Given the description of an element on the screen output the (x, y) to click on. 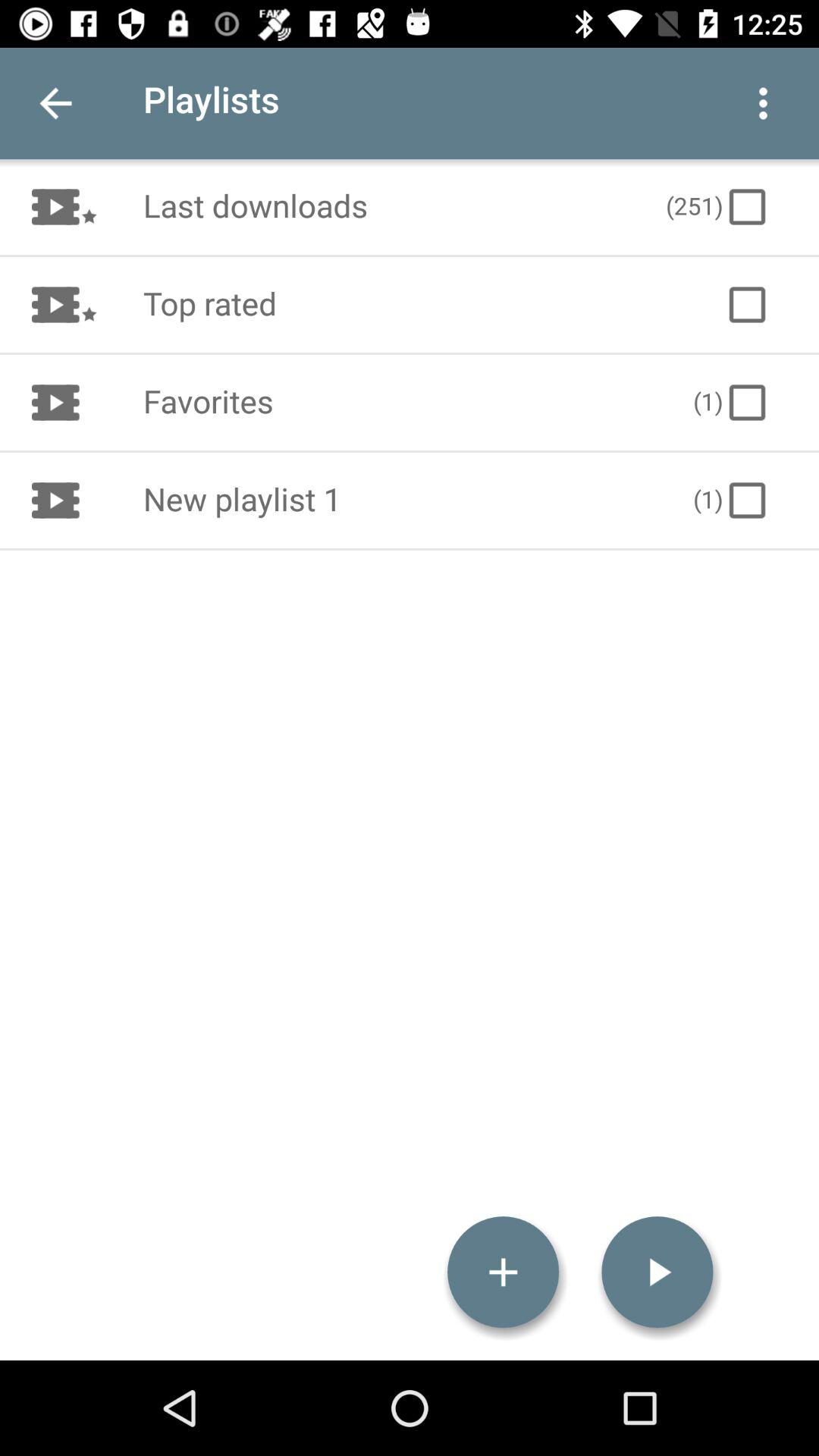
choose item to the right of the playlists (763, 103)
